Given the description of an element on the screen output the (x, y) to click on. 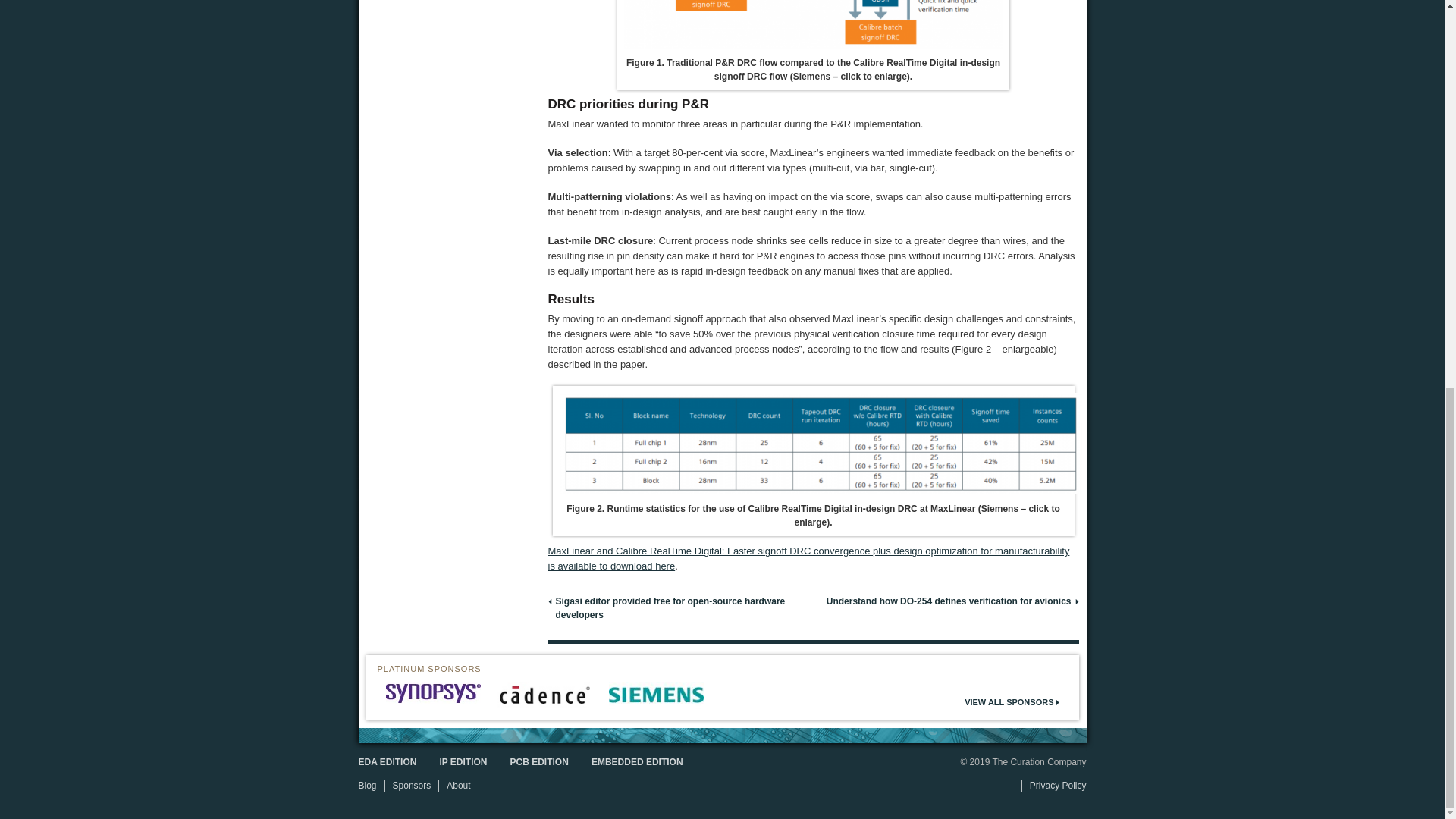
Cadence Design Systems (544, 694)
Understand how DO-254 defines verification for avionics (949, 601)
Siemens EDA (655, 694)
Synopsys (432, 692)
